Given the description of an element on the screen output the (x, y) to click on. 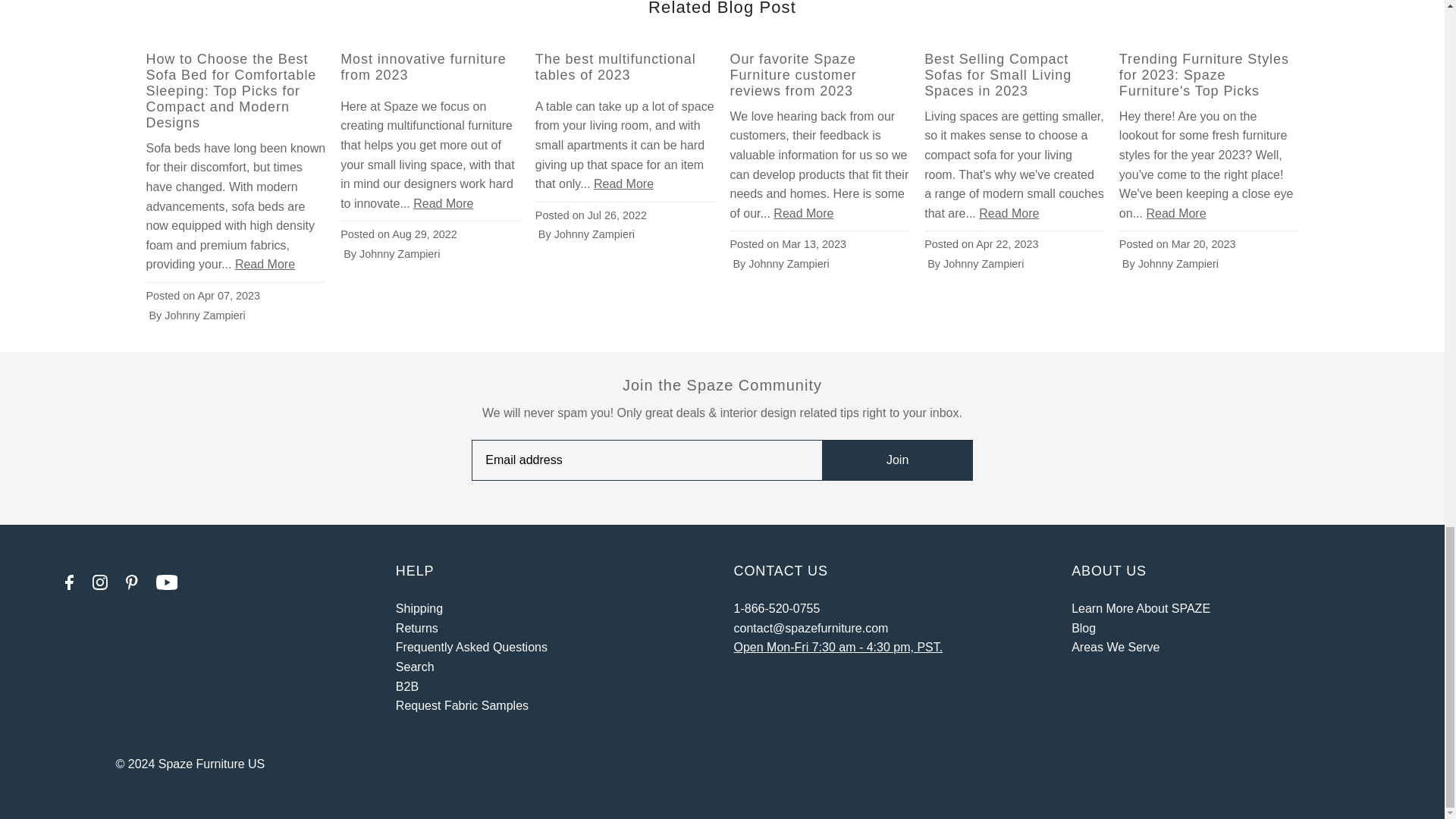
tel:1-866-520-0755 (777, 608)
